Given the description of an element on the screen output the (x, y) to click on. 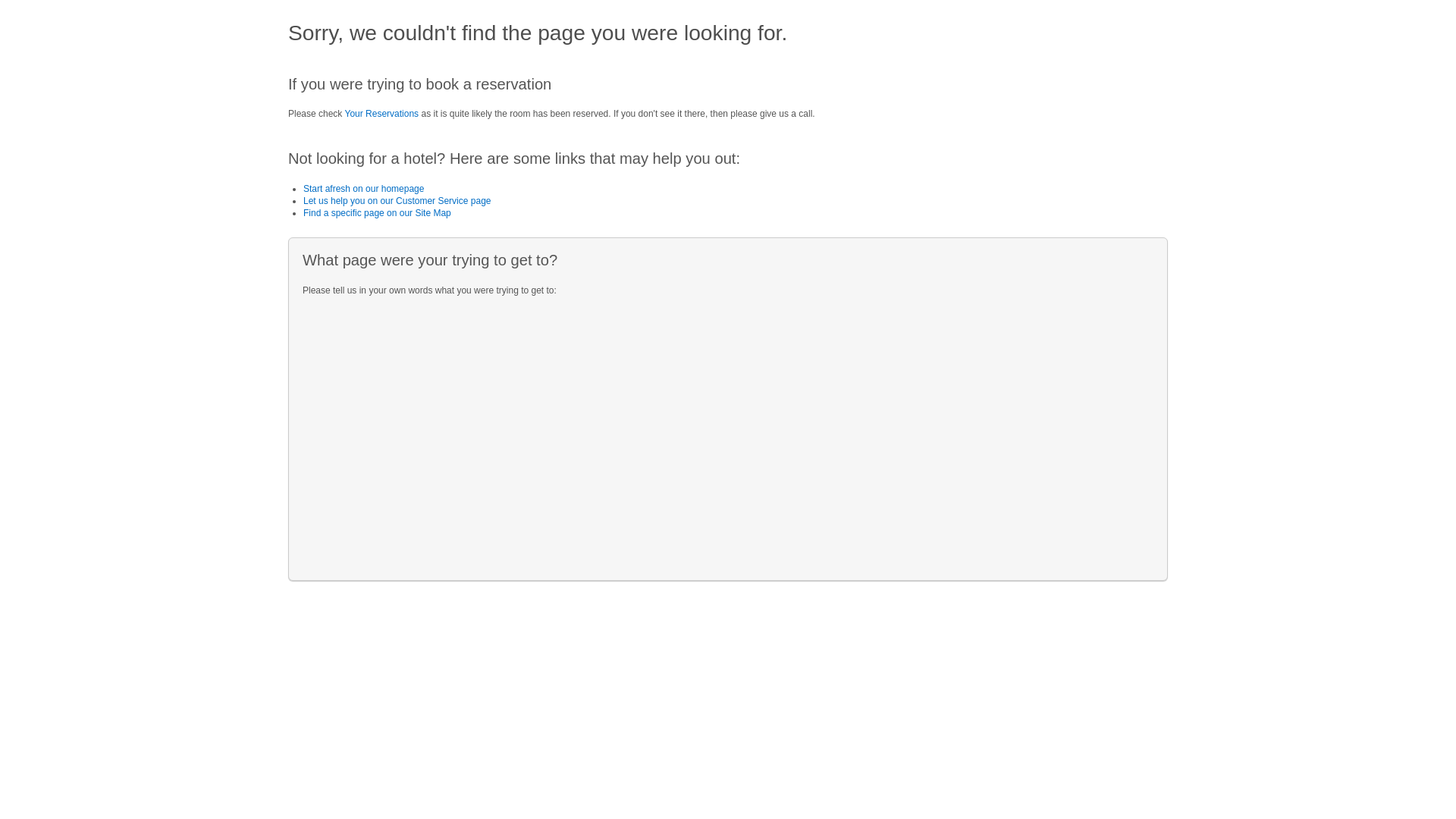
Find a specific page on our Site Map Element type: text (377, 212)
Start afresh on our homepage Element type: text (363, 188)
Let us help you on our Customer Service page Element type: text (396, 200)
Your Reservations Element type: text (381, 113)
